Given the description of an element on the screen output the (x, y) to click on. 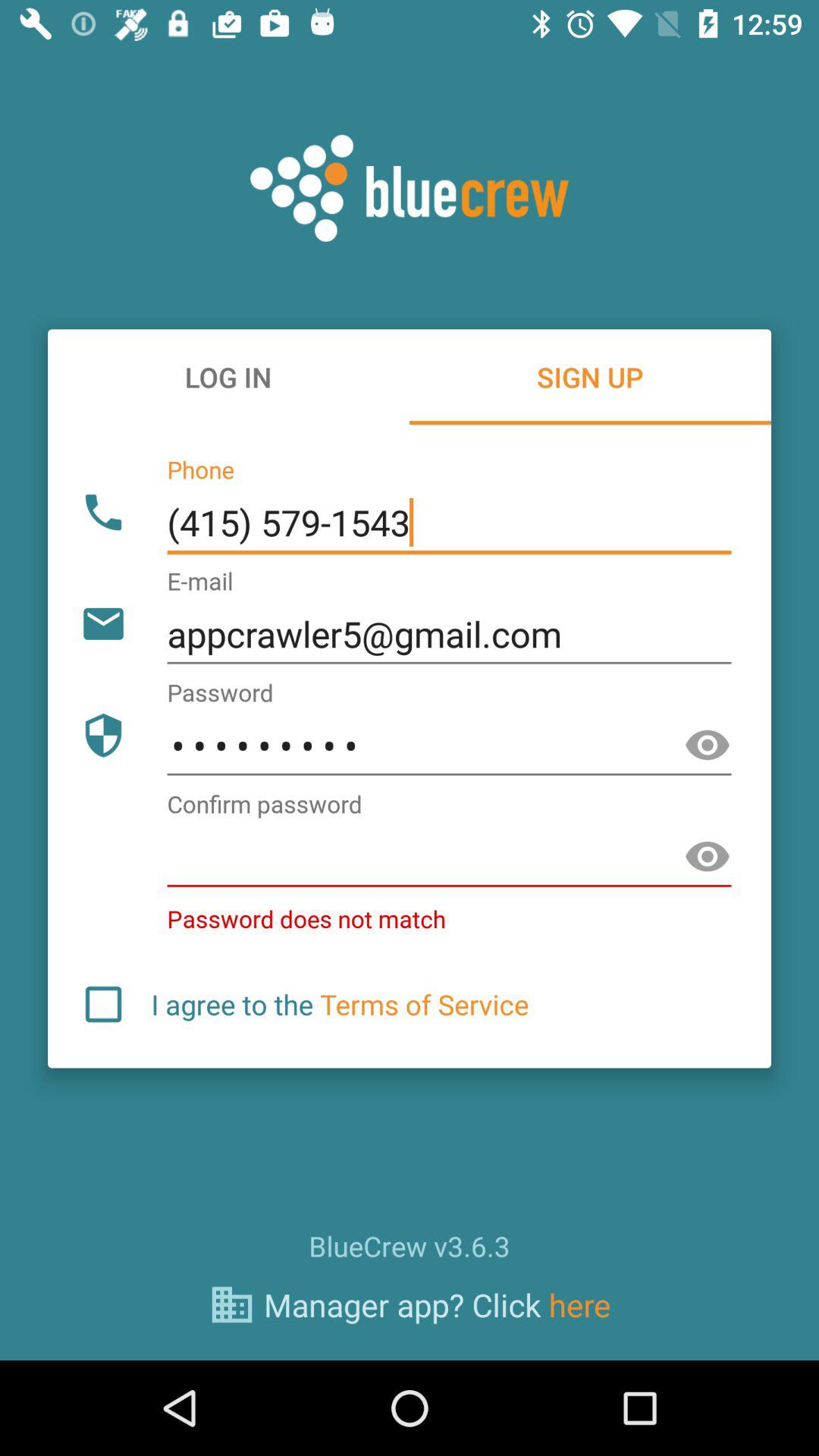
enter password (449, 857)
